Given the description of an element on the screen output the (x, y) to click on. 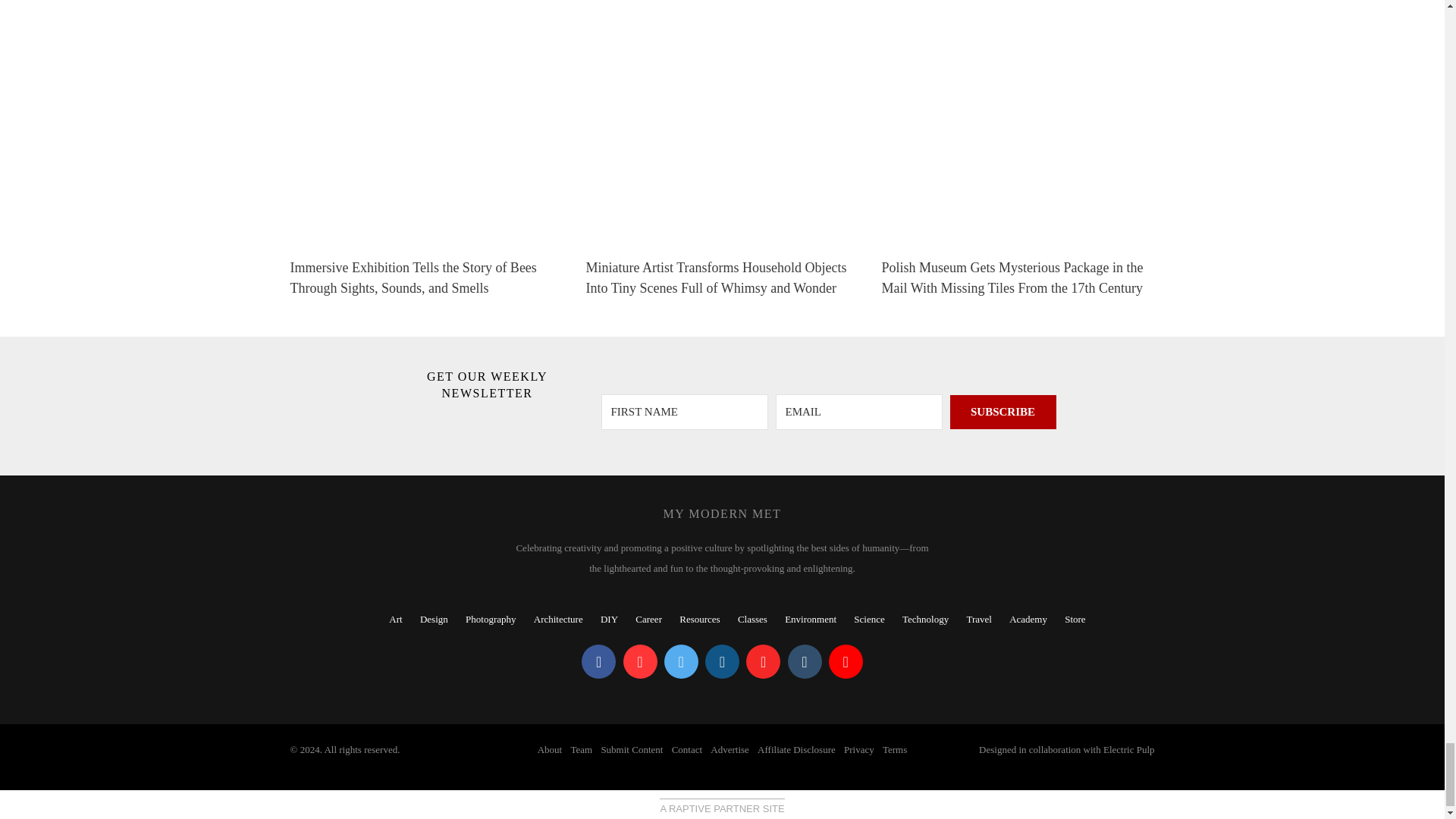
My Modern Met on Twitter (680, 661)
My Modern Met on Facebook (597, 661)
My Modern Met on Instagram (721, 661)
My Modern Met on Tumblr (804, 661)
My Modern Met on Pinterest (640, 661)
My Modern Met on YouTube (845, 661)
